Given the description of an element on the screen output the (x, y) to click on. 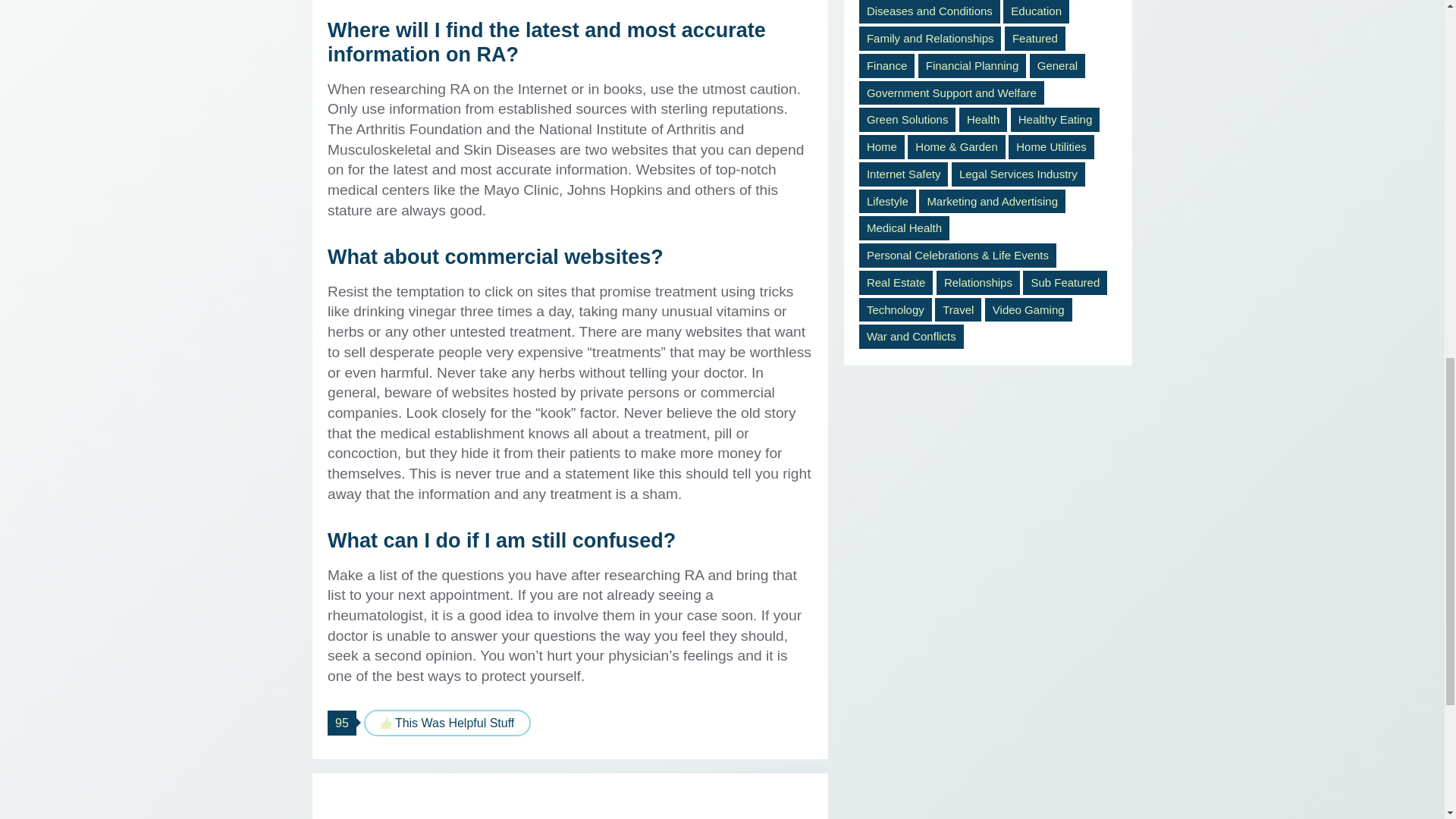
Diseases and Conditions (929, 11)
Home Utilities (1051, 146)
Featured (1034, 38)
Family and Relationships (930, 38)
Home (881, 146)
Government Support and Welfare (951, 93)
Healthy Eating (1055, 119)
Green Solutions (907, 119)
General (1056, 65)
Finance (886, 65)
